Given the description of an element on the screen output the (x, y) to click on. 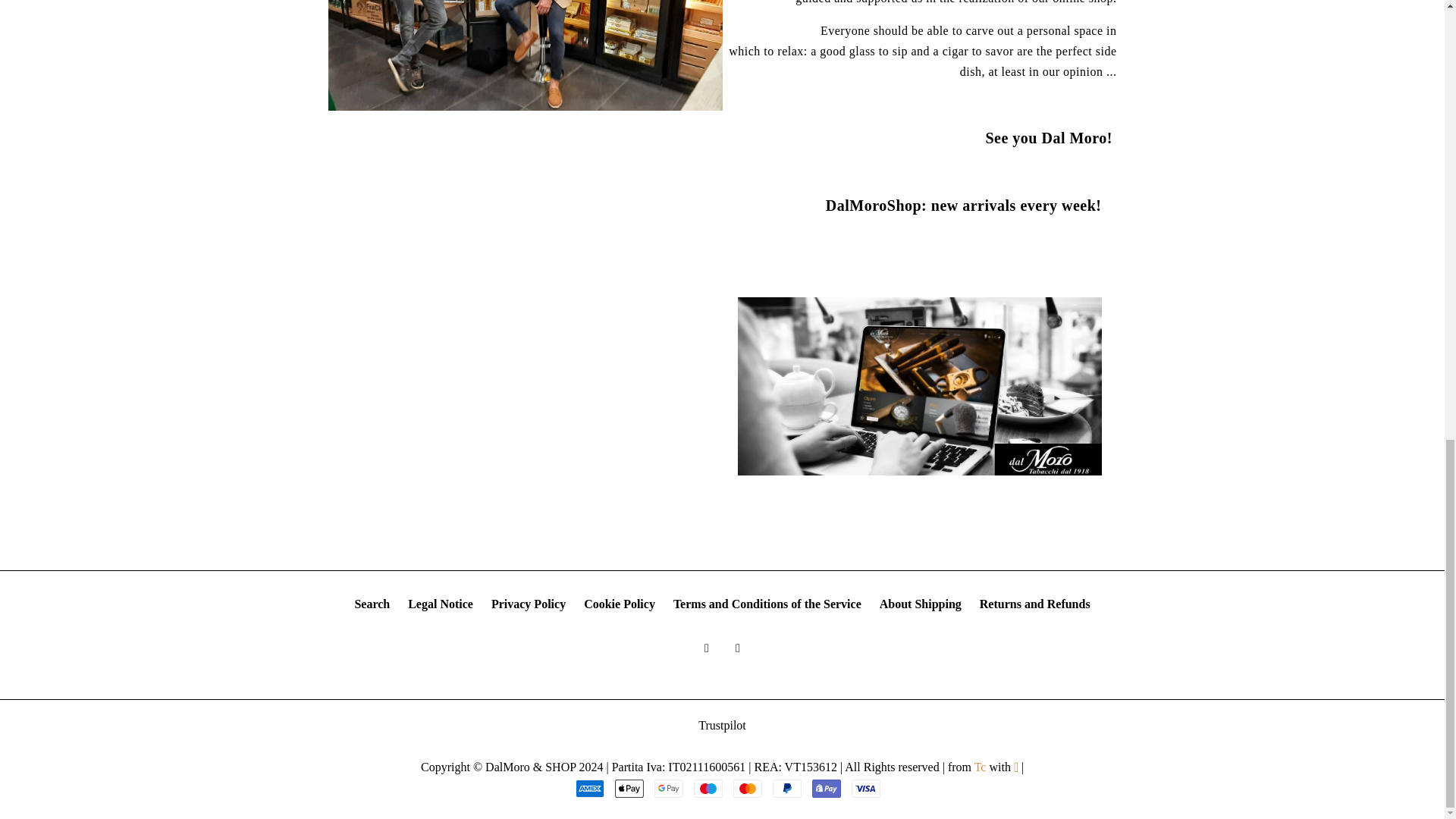
Visa (865, 788)
American Express (589, 788)
PayPal (787, 788)
Mastercard (747, 788)
Google Pay (667, 788)
Shopify Pay (826, 788)
Apple Pay (628, 788)
Maestro (708, 788)
